Given the description of an element on the screen output the (x, y) to click on. 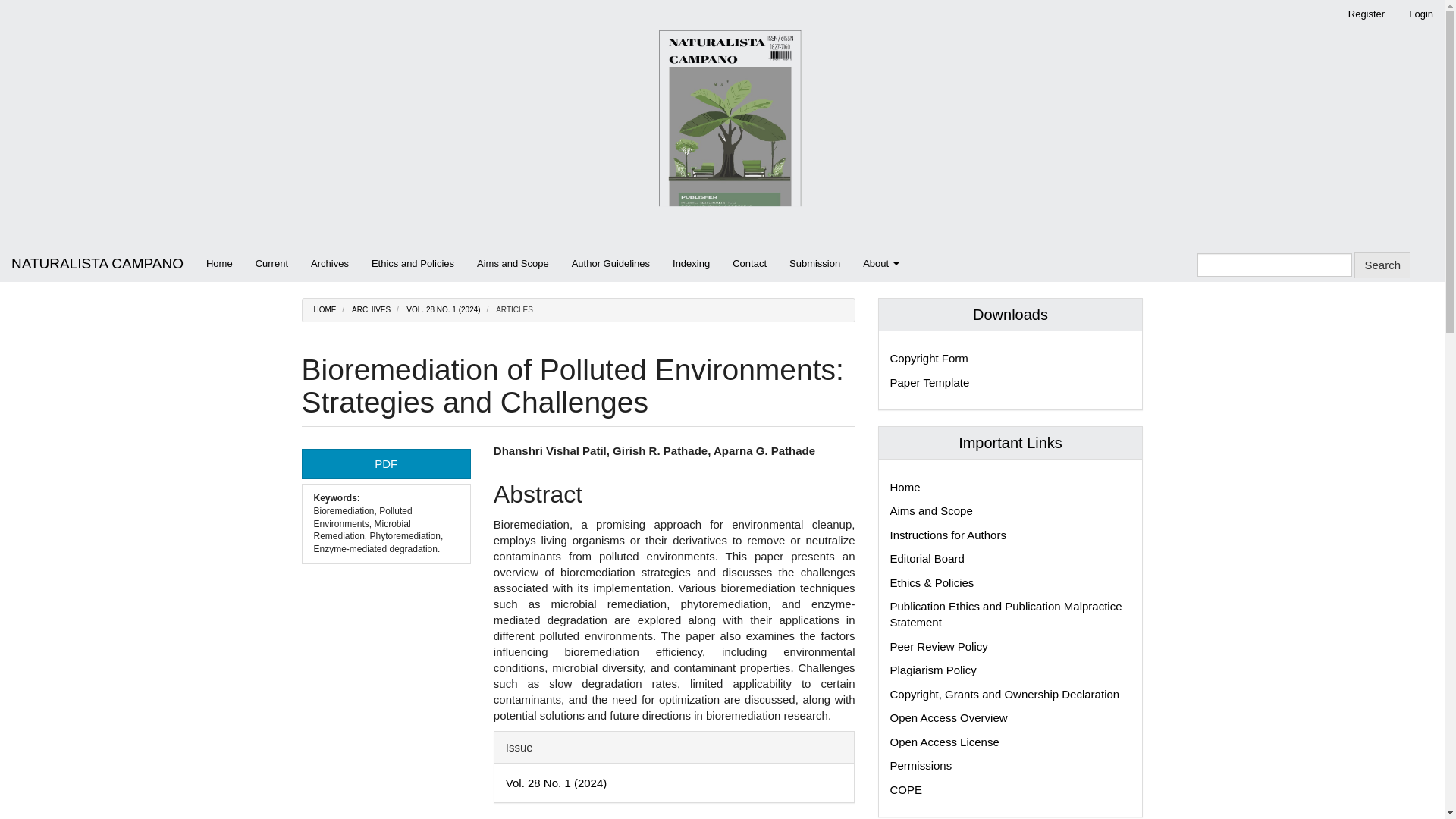
Permissions (920, 765)
Register (1366, 14)
Copyright, Grants and Ownership Declaration (1004, 694)
Editorial Board (926, 558)
Current (271, 263)
Ethics and Policies (412, 263)
Search (1382, 264)
Copyright Form (928, 358)
Instructions for Authors (947, 534)
PDF (385, 463)
